Given the description of an element on the screen output the (x, y) to click on. 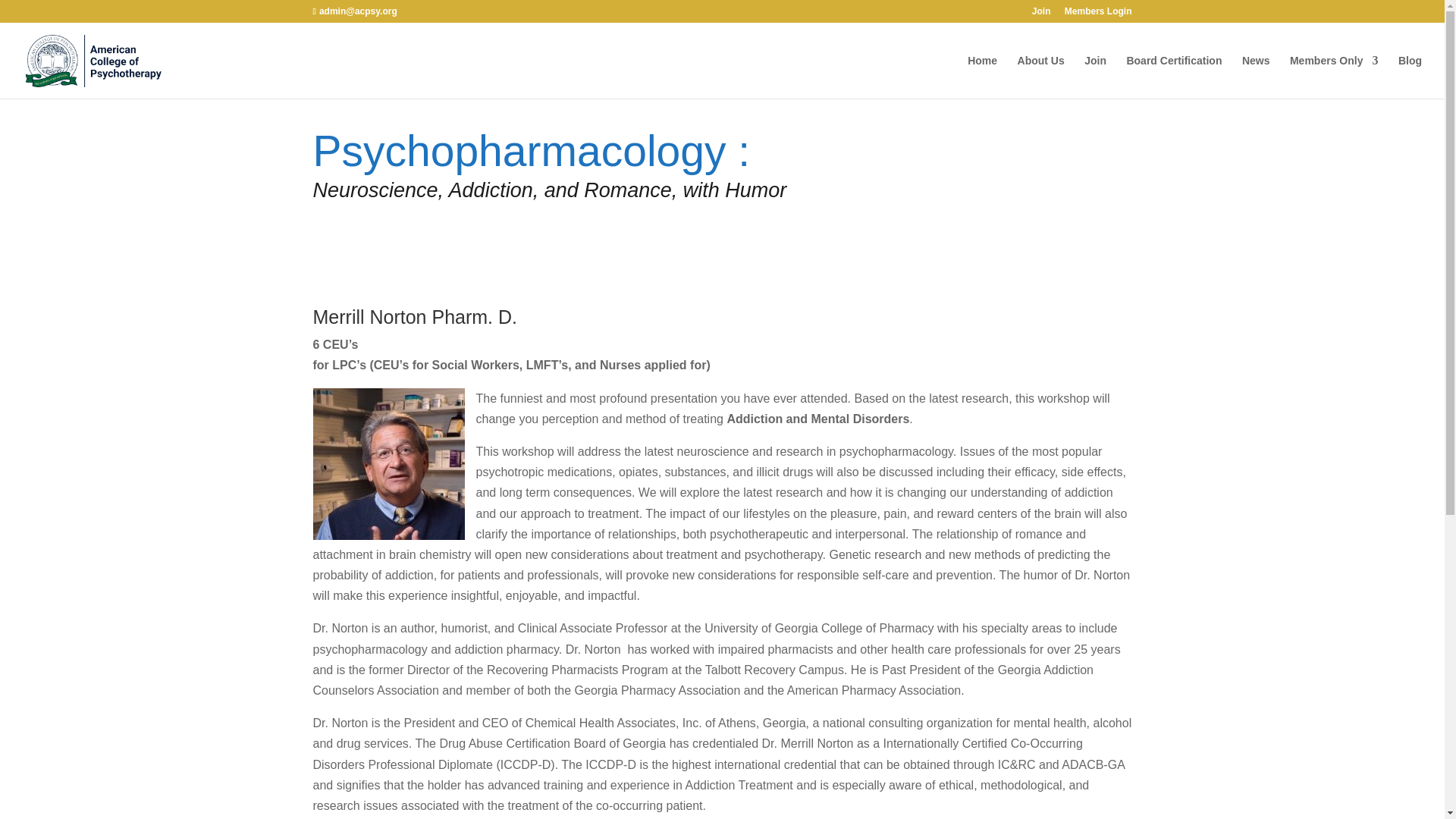
Members Login (1098, 14)
About Us (1040, 76)
Members Only (1333, 76)
Board Certification (1173, 76)
Join (1041, 14)
